Given the description of an element on the screen output the (x, y) to click on. 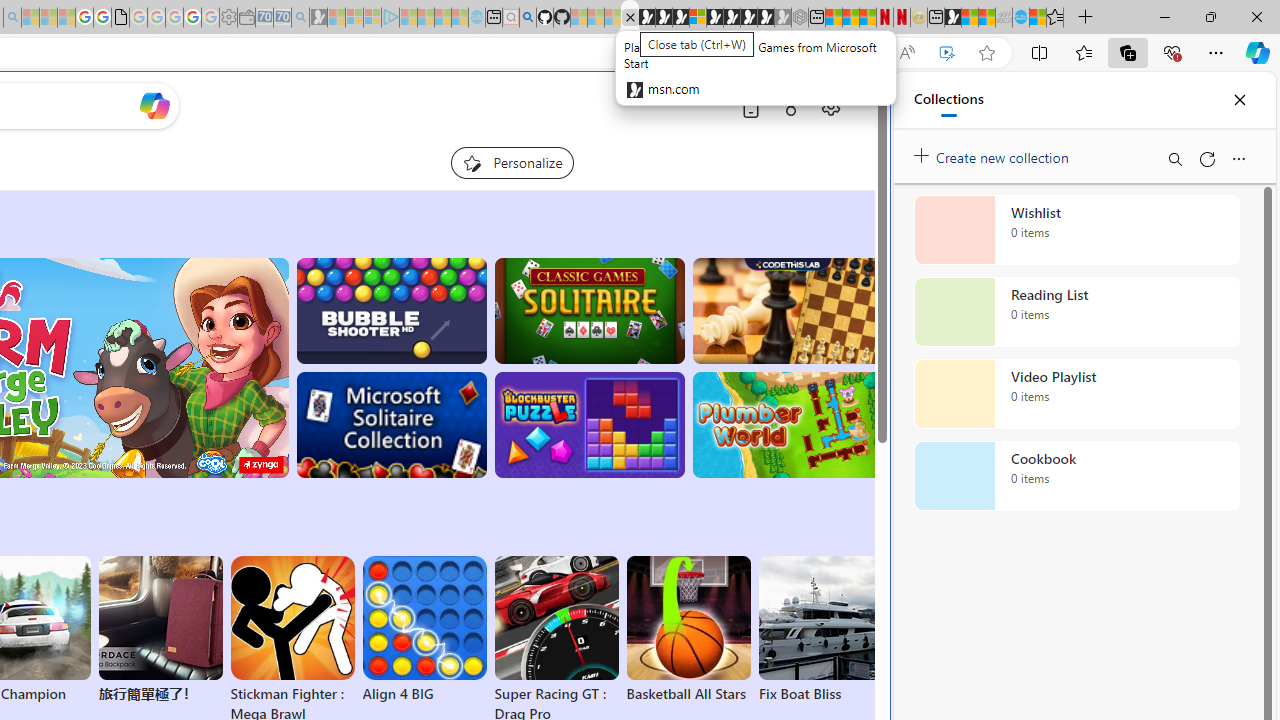
Classic Solitaire (589, 310)
Search or enter web address (343, 191)
Wishlist collection, 0 items (1076, 229)
Close split screen (844, 102)
